Given the description of an element on the screen output the (x, y) to click on. 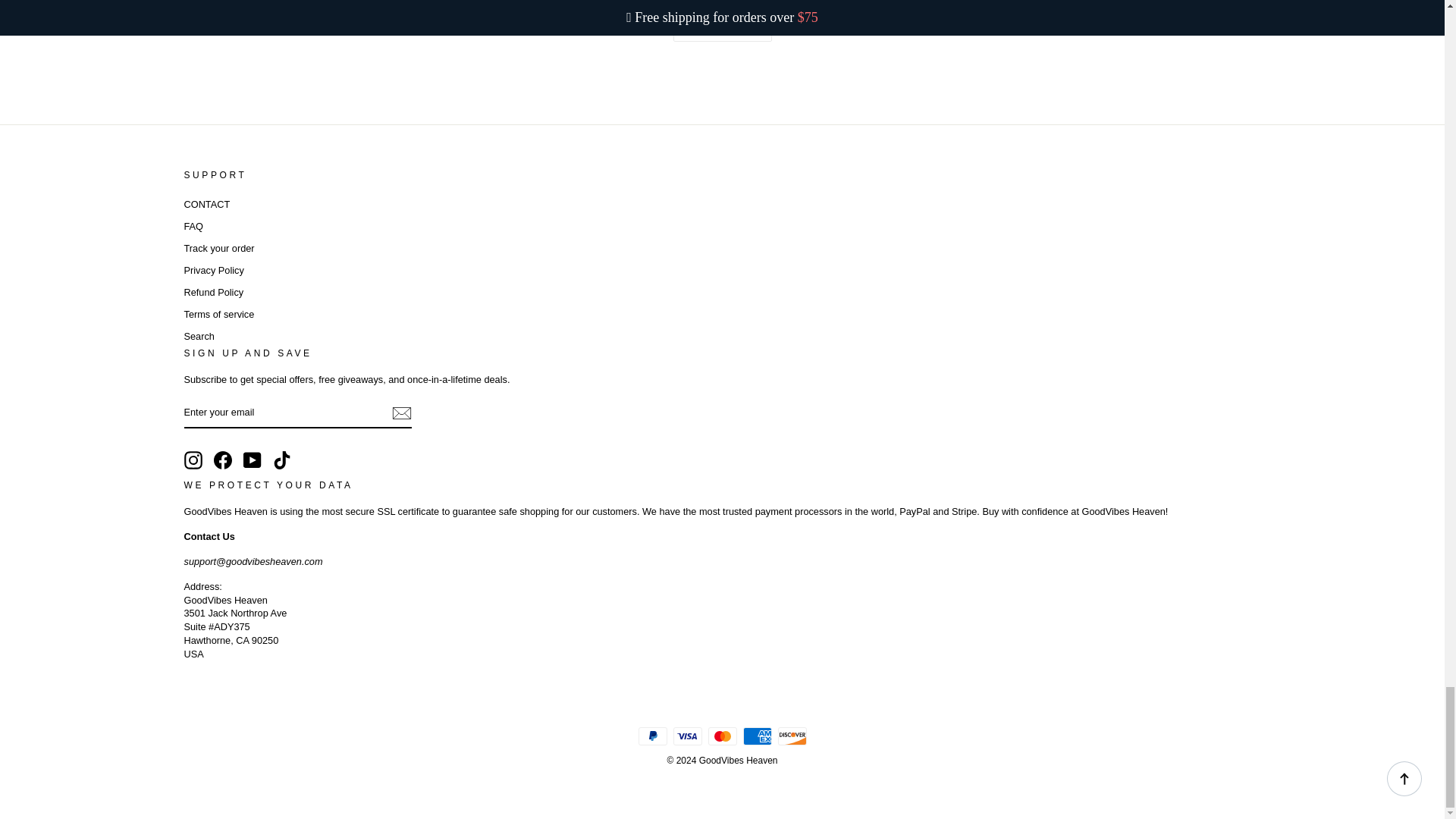
GoodVibes Heaven on Facebook (222, 460)
All product reviews widget (721, 33)
GoodVibes Heaven on Instagram (192, 460)
GoodVibes Heaven on TikTok (282, 460)
GoodVibes Heaven on YouTube (251, 460)
icon-email (400, 413)
